Given the description of an element on the screen output the (x, y) to click on. 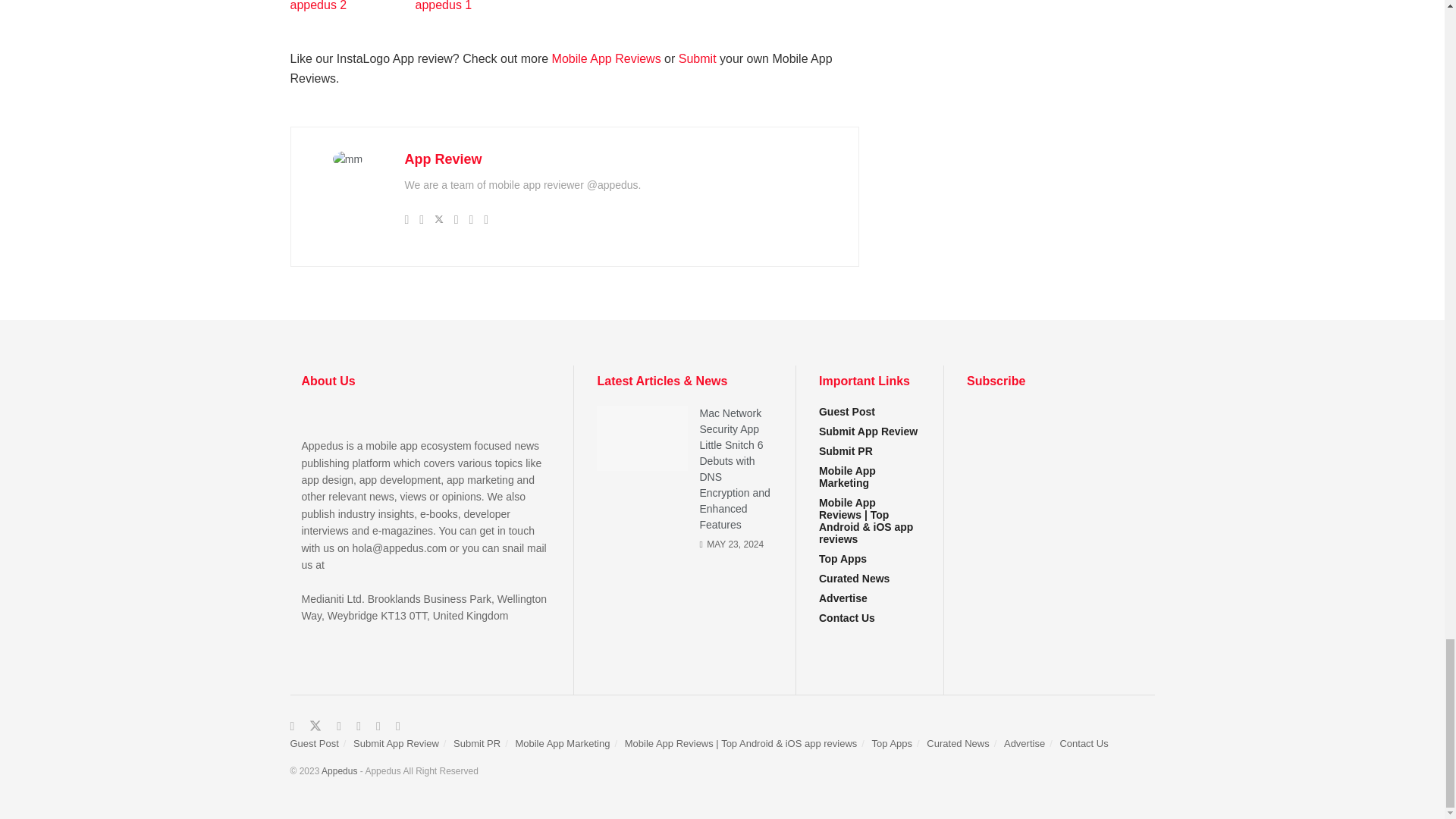
Appedus All Right Reserved (338, 770)
